Given the description of an element on the screen output the (x, y) to click on. 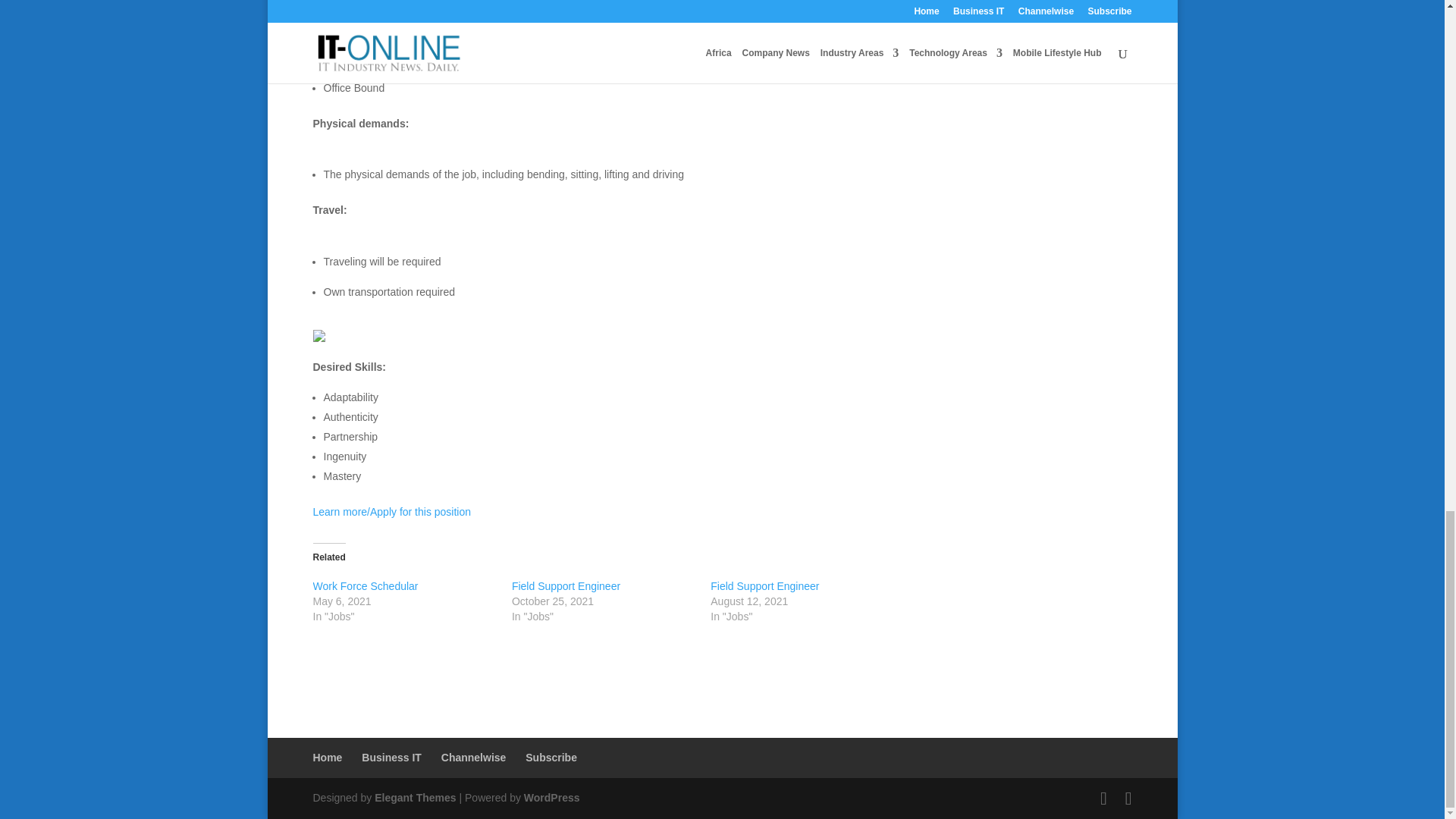
Field Support Engineer (566, 585)
Premium WordPress Themes (414, 797)
Field Support Engineer (764, 585)
Work Force Schedular (365, 585)
